Given the description of an element on the screen output the (x, y) to click on. 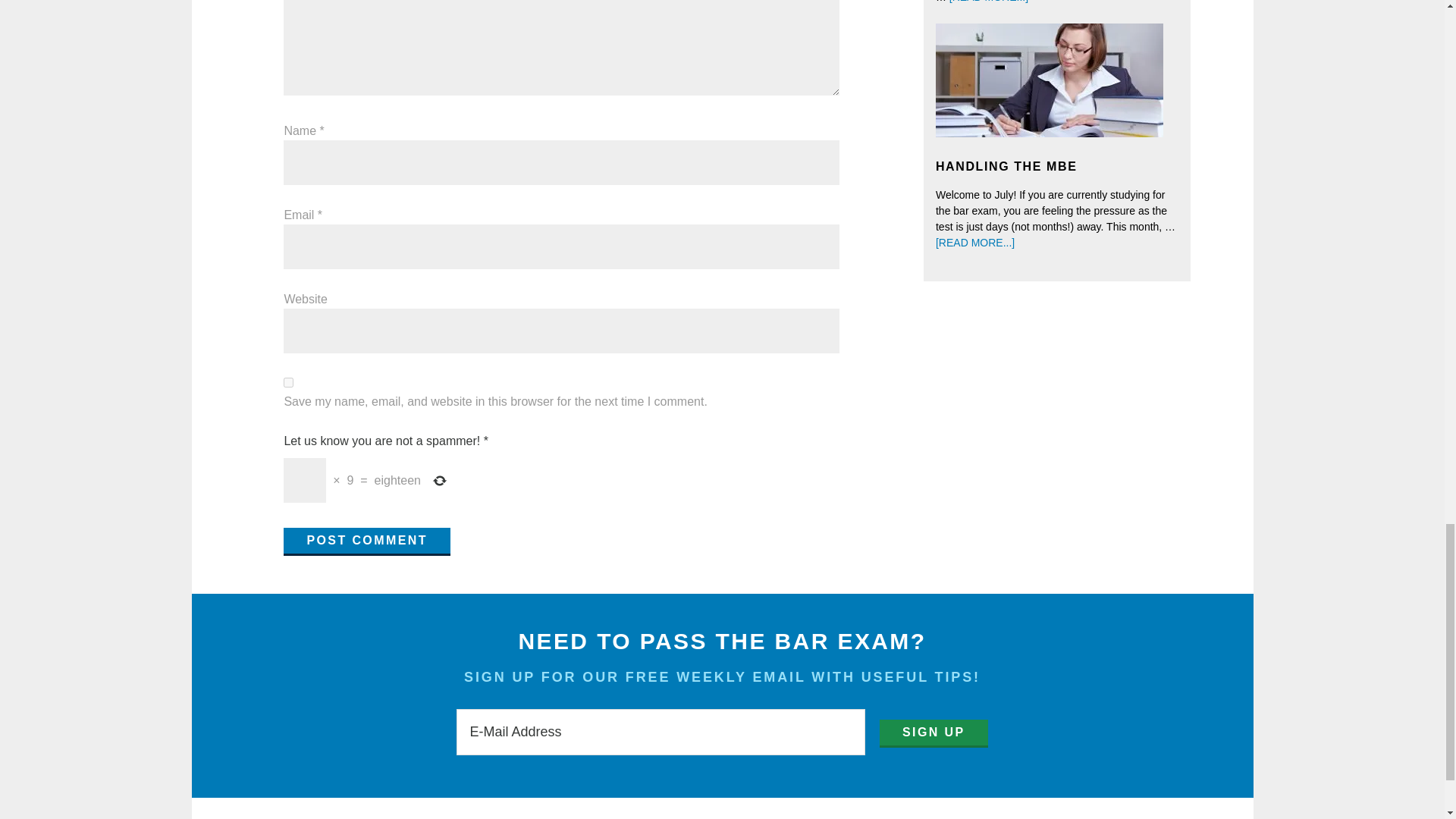
yes (288, 382)
Sign Up (933, 733)
Post Comment (366, 541)
